Given the description of an element on the screen output the (x, y) to click on. 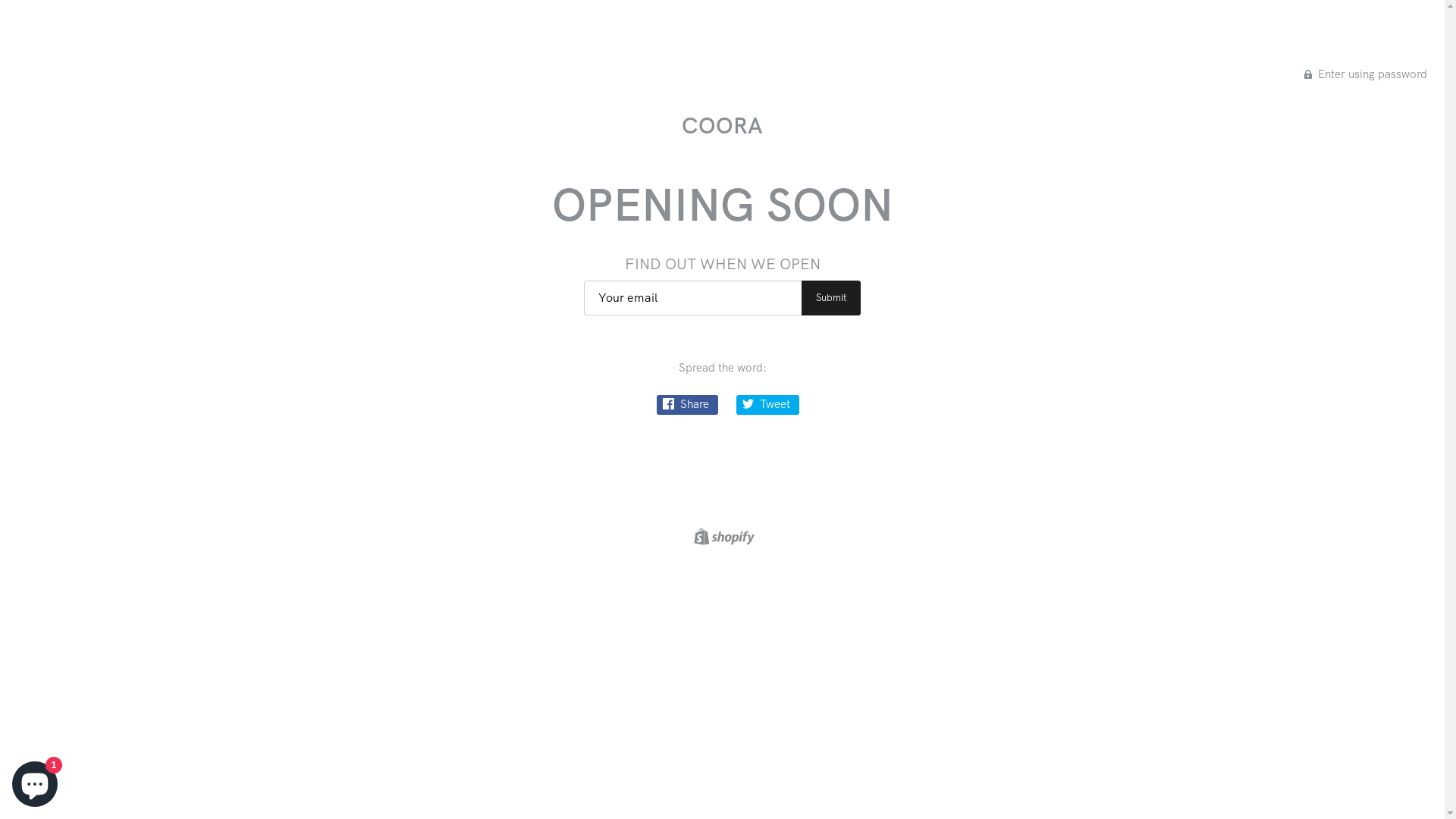
Facebook Share Element type: text (687, 404)
Shopify online store chat Element type: hover (34, 780)
Lock icon Enter using password Element type: text (1365, 73)
Shopify logo Element type: text (722, 535)
Twitter Tweet Element type: text (767, 404)
Submit Element type: text (830, 297)
